Given the description of an element on the screen output the (x, y) to click on. 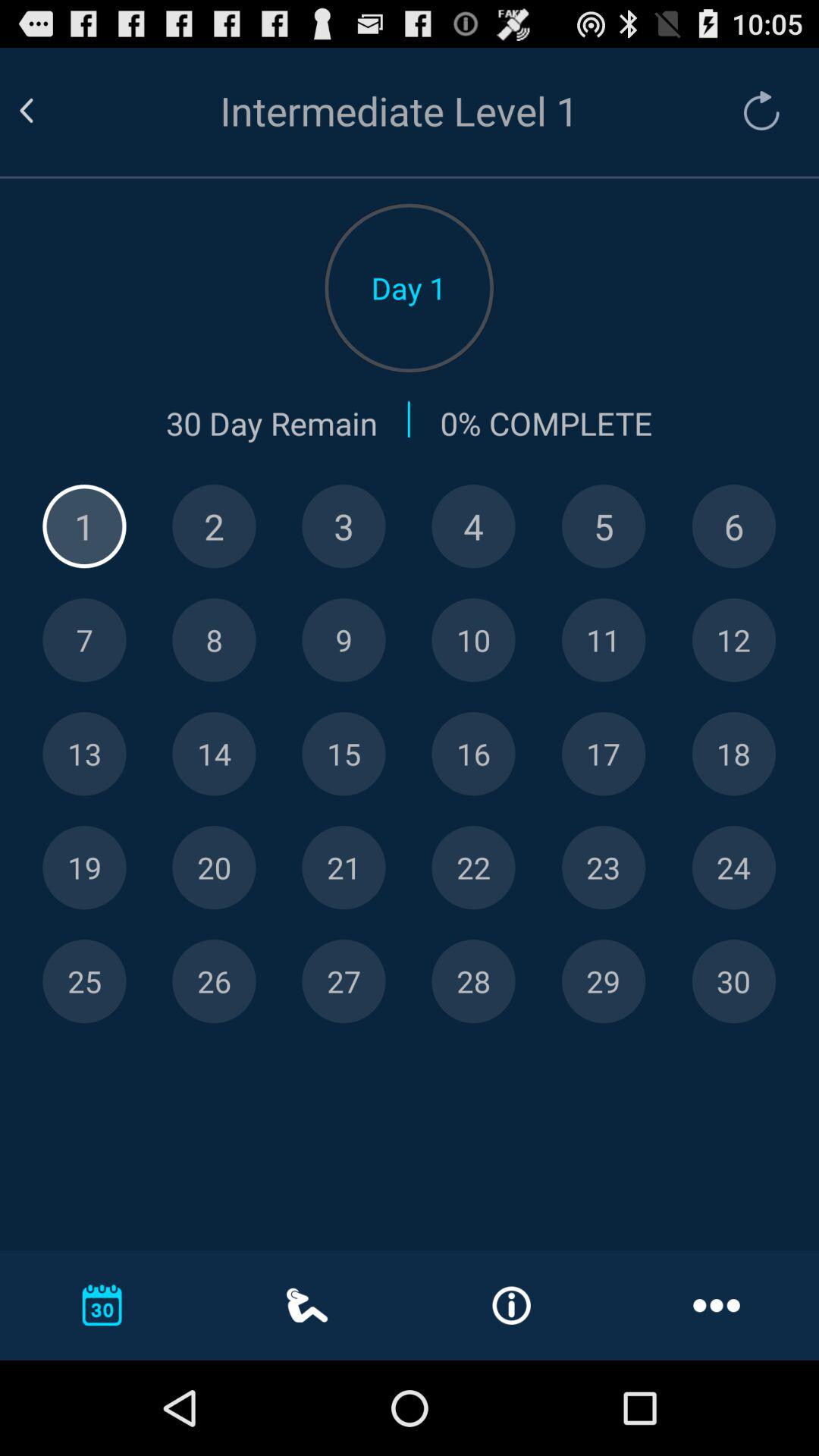
select day 28 (473, 981)
